Given the description of an element on the screen output the (x, y) to click on. 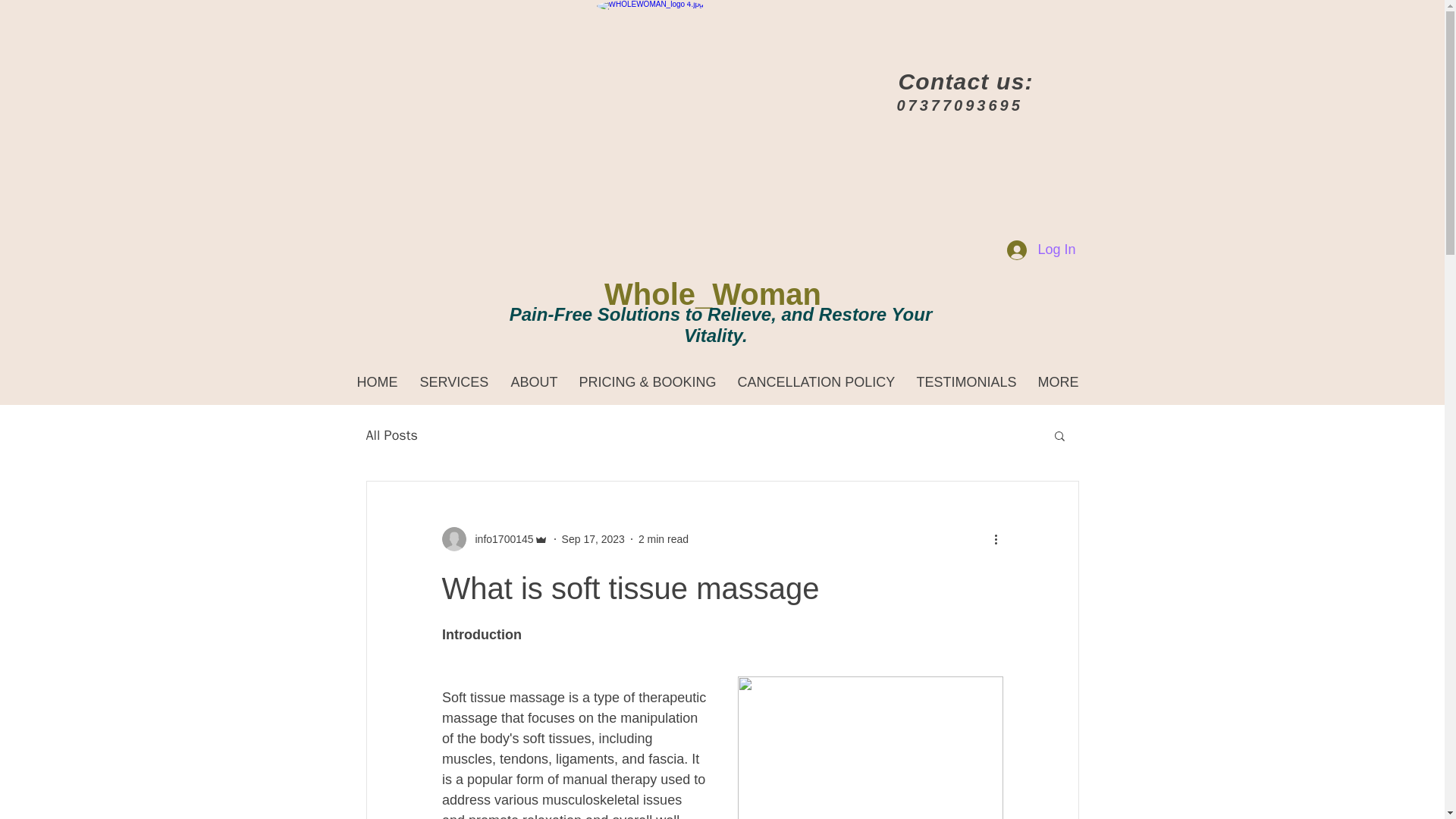
Log In (1040, 249)
info1700145 (494, 539)
HOME (381, 374)
TESTIMONIALS (970, 374)
2 min read (663, 539)
ABOUT (539, 374)
CANCELLATION POLICY (820, 374)
SERVICES (459, 374)
info1700145 (498, 539)
All Posts (390, 434)
Sep 17, 2023 (593, 539)
